Given the description of an element on the screen output the (x, y) to click on. 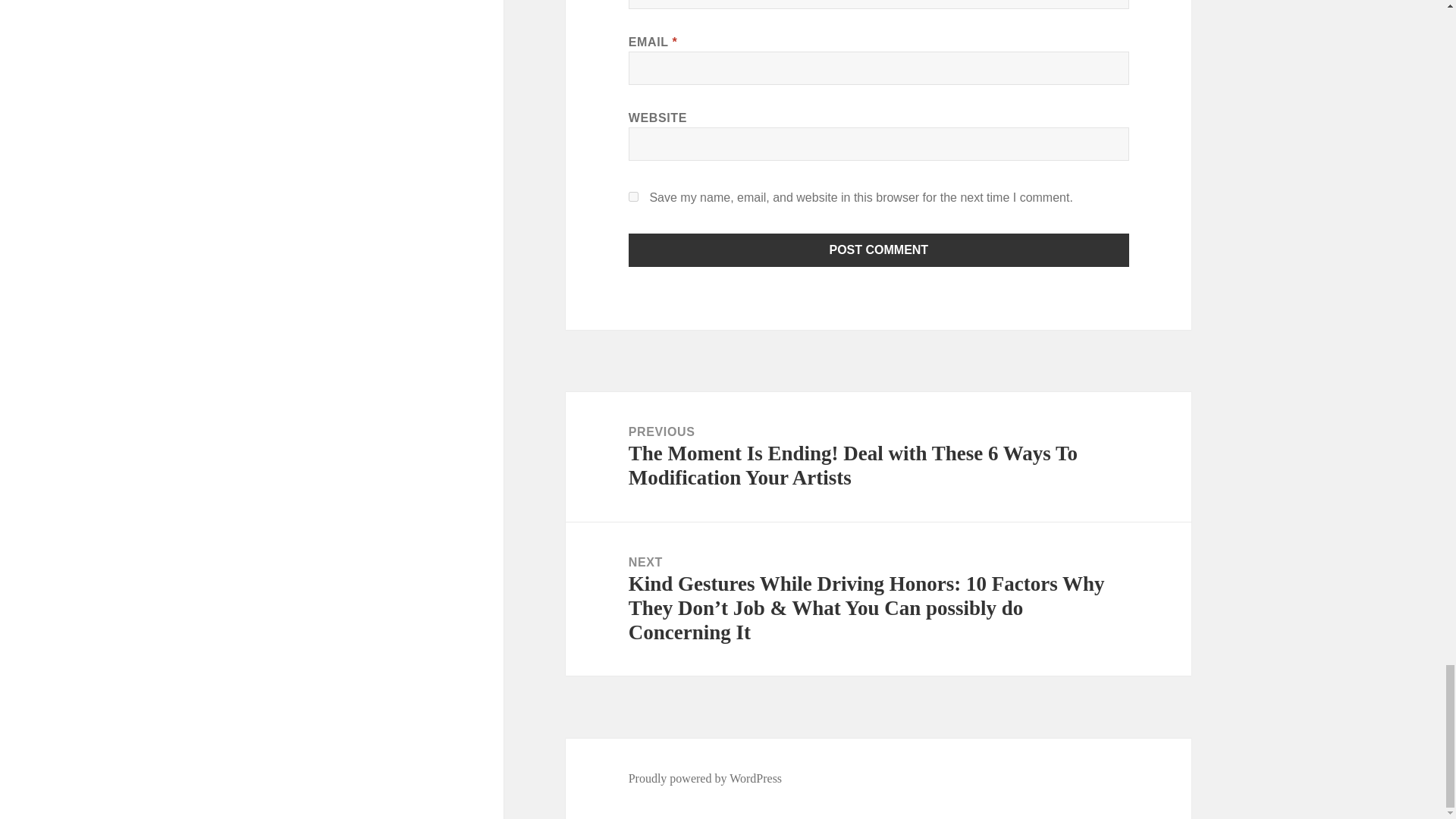
Proudly powered by WordPress (704, 778)
Post Comment (878, 249)
Post Comment (878, 249)
yes (633, 196)
